Given the description of an element on the screen output the (x, y) to click on. 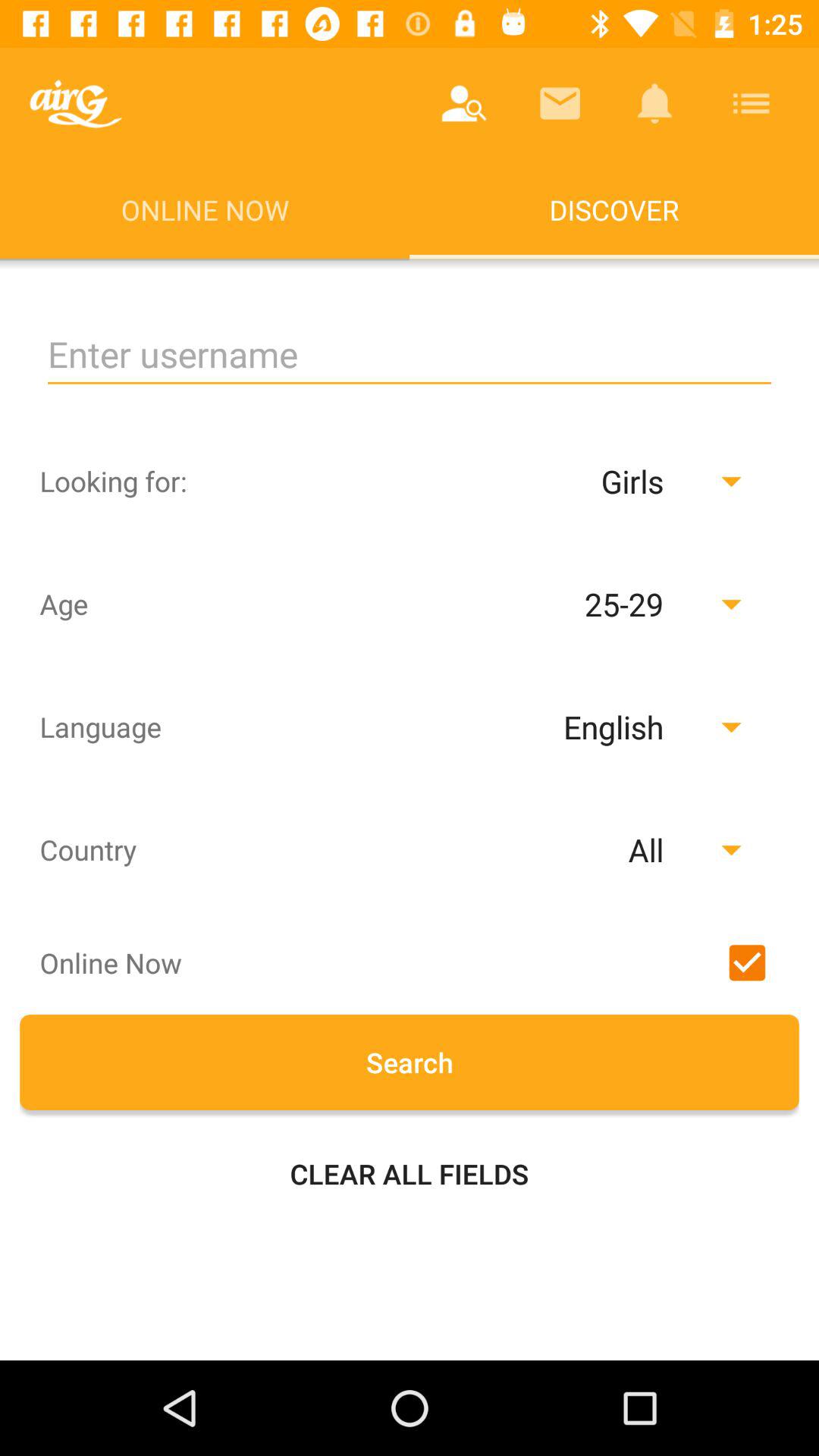
swipe to the discover app (614, 209)
